Given the description of an element on the screen output the (x, y) to click on. 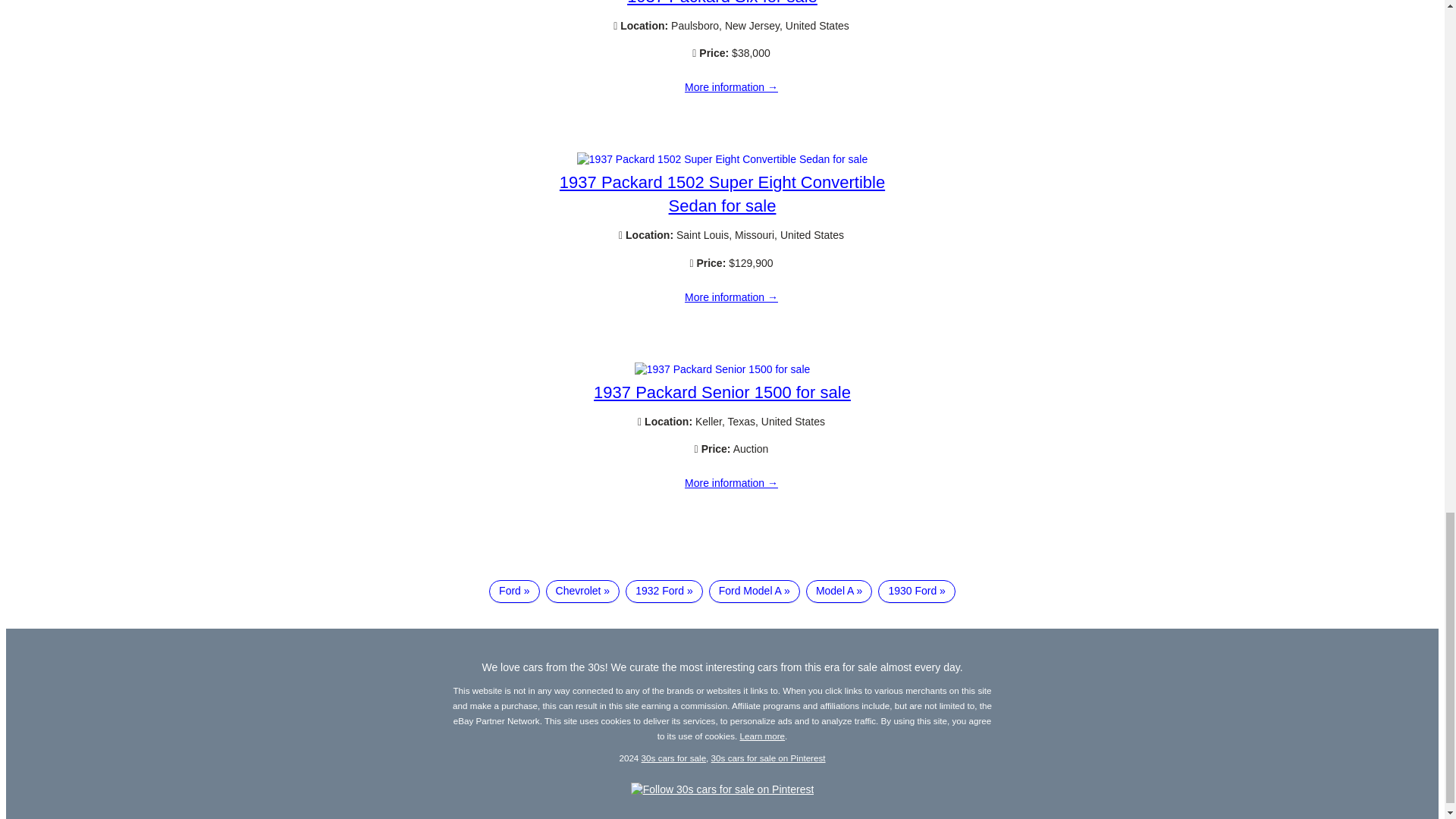
30s cars for sale on Pinterest (768, 757)
Ford Model A (754, 590)
1937 Packard 1502 Super Eight Convertible Sedan for sale (731, 297)
1937 Packard Senior 1500 for sale (722, 392)
1930 Ford (916, 590)
1937 Packard 1502 Super Eight Convertible Sedan for sale (721, 159)
30s cars for sale (674, 757)
Learn more (762, 736)
Ford (513, 590)
1937 Packard Six for sale (731, 87)
